Given the description of an element on the screen output the (x, y) to click on. 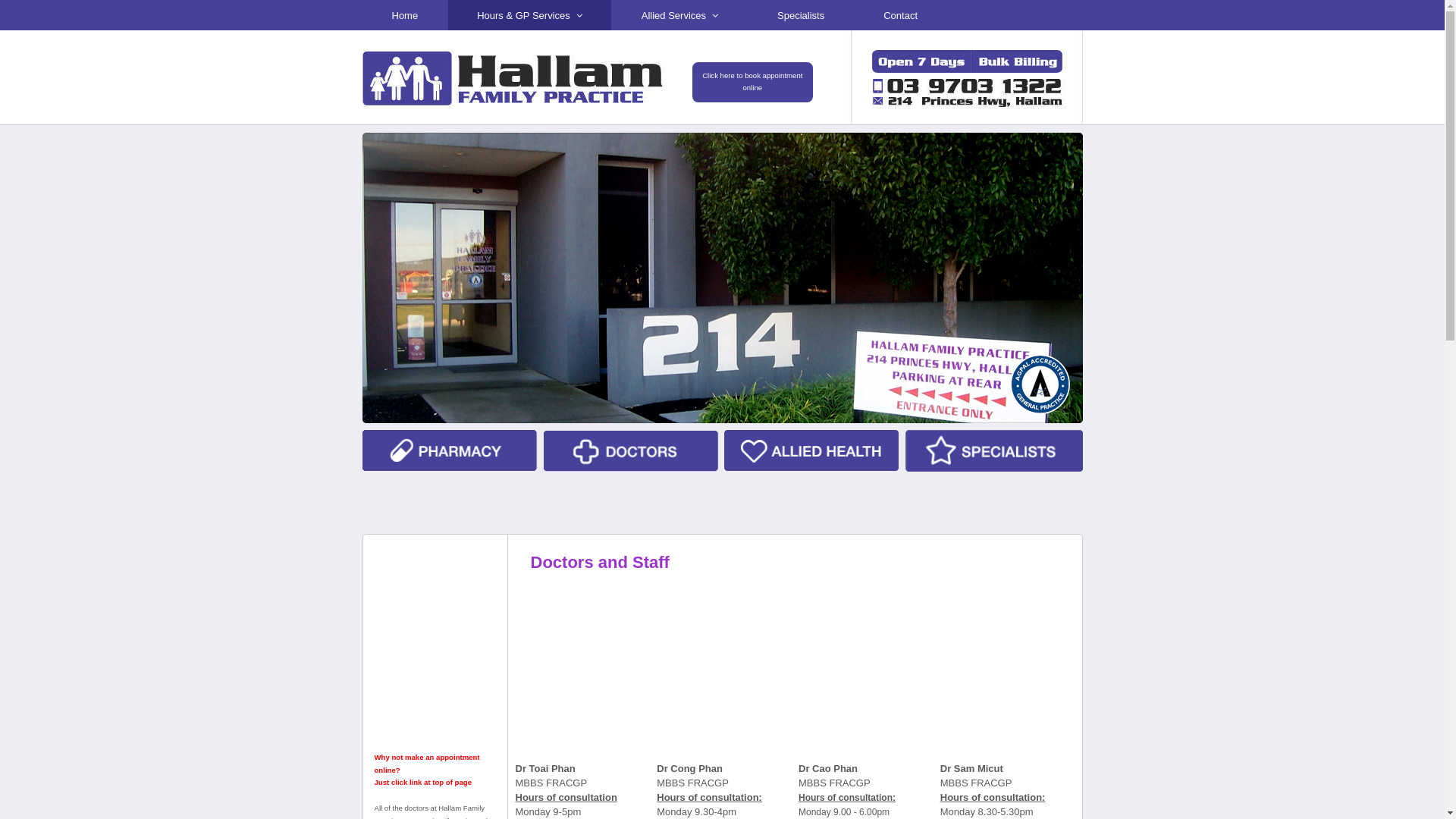
Allied Services Element type: text (679, 15)
Hours & GP Services Element type: text (529, 15)
Specialists Element type: text (800, 15)
Home Element type: text (404, 15)
Click here to book appointment online Element type: text (751, 82)
Contact Element type: text (900, 15)
